Given the description of an element on the screen output the (x, y) to click on. 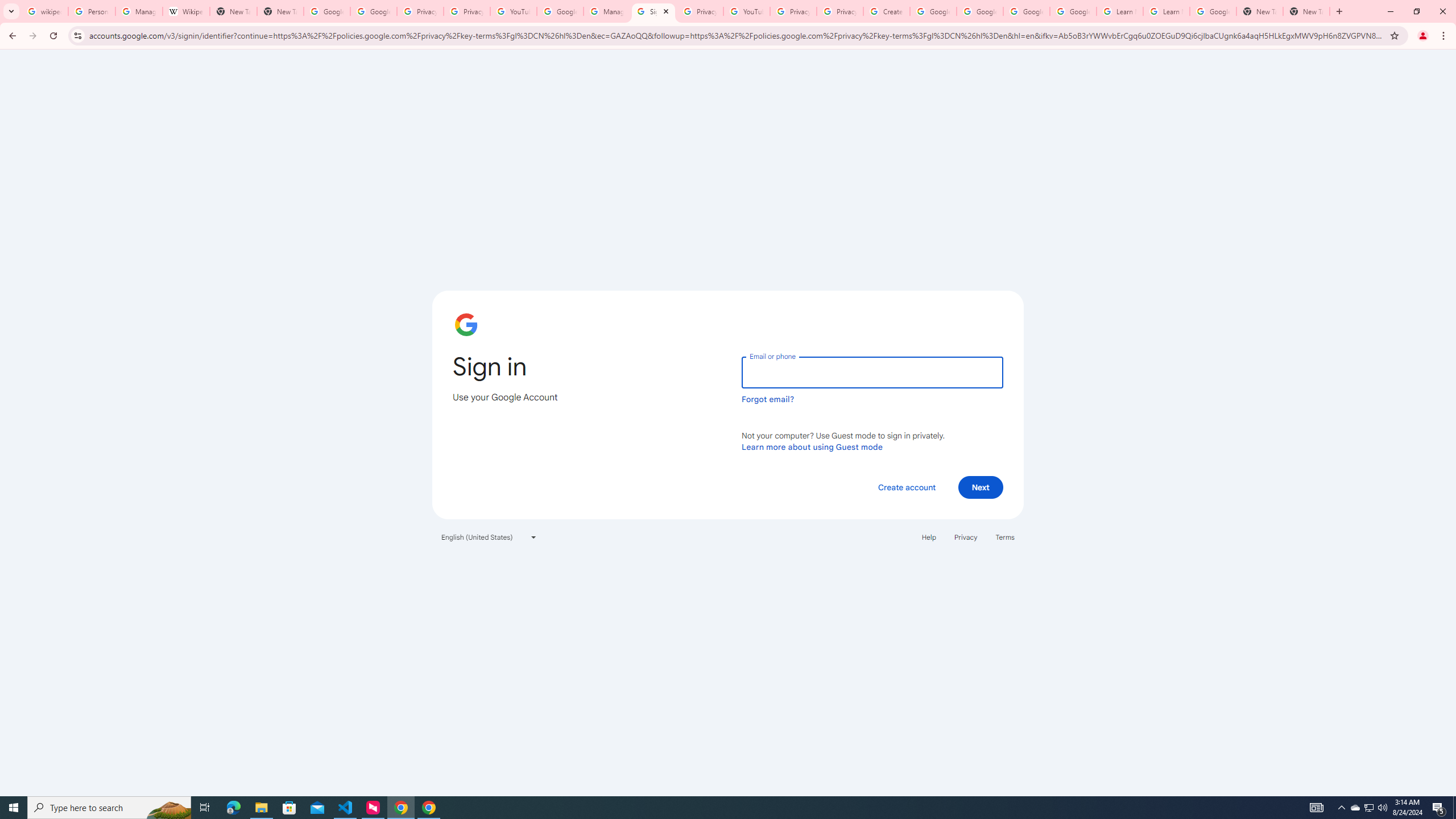
New Tab (279, 11)
English (United States) (489, 536)
Google Account Help (559, 11)
Google Account Help (1073, 11)
